Given the description of an element on the screen output the (x, y) to click on. 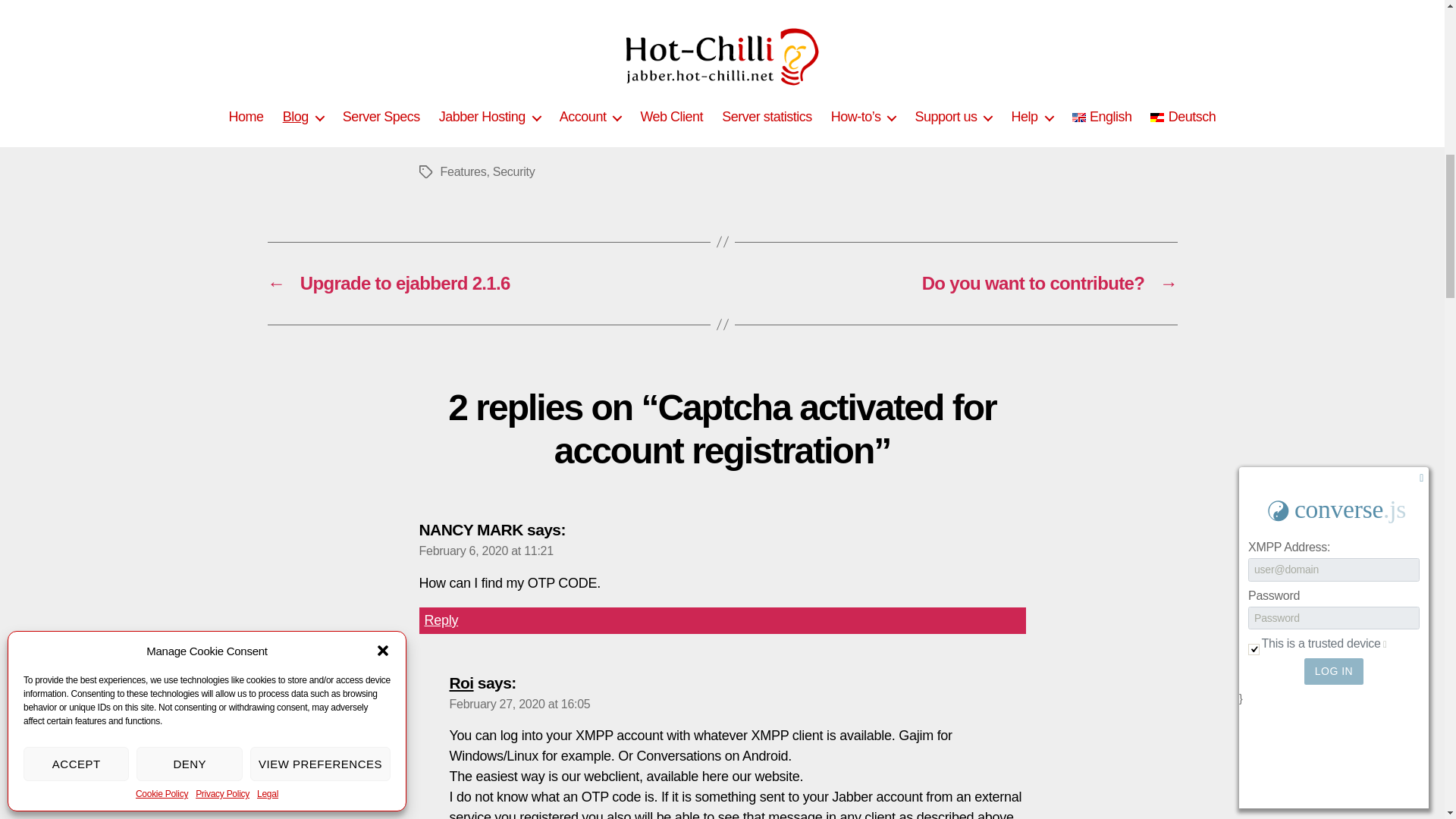
Reply (722, 620)
